Given the description of an element on the screen output the (x, y) to click on. 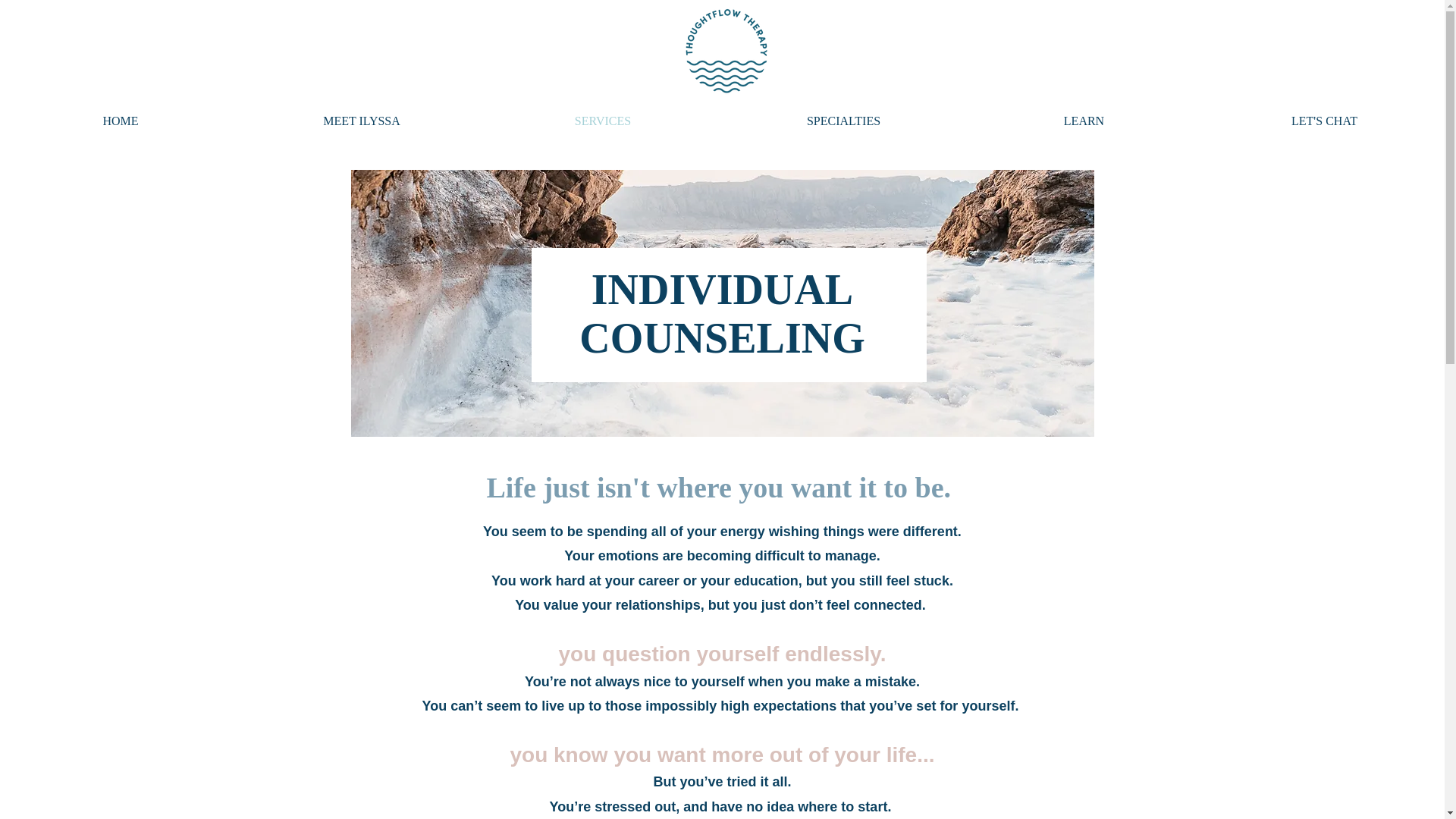
HOME (120, 121)
SERVICES (602, 121)
LEARN (1083, 121)
SPECIALTIES (843, 121)
MEET ILYSSA (361, 121)
